Given the description of an element on the screen output the (x, y) to click on. 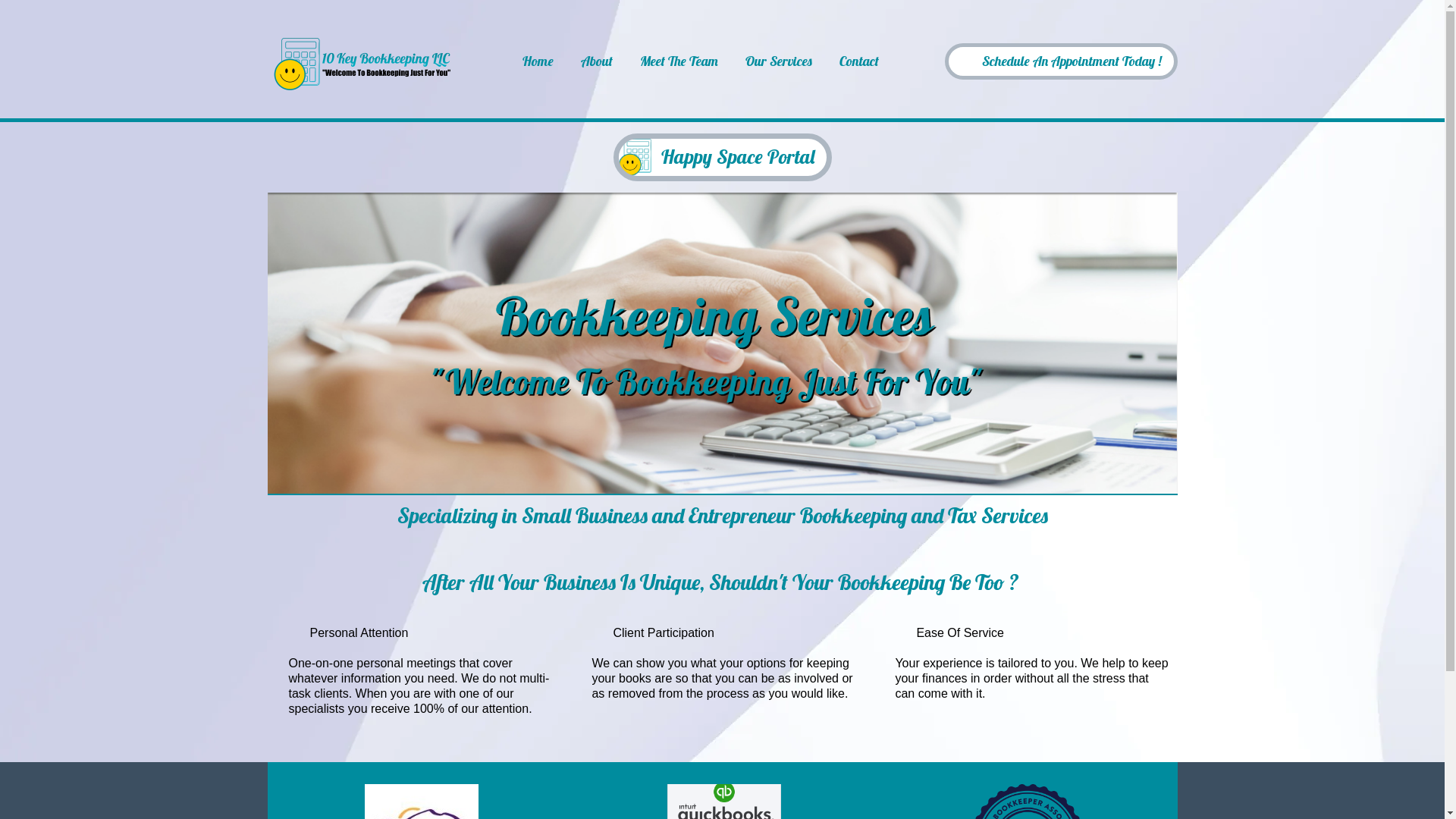
About Element type: text (596, 61)
Contact Element type: text (858, 61)
Our Services Element type: text (778, 61)
Home Element type: text (537, 61)
Meet The Team Element type: text (679, 61)
Schedule An Appointment Today ! Element type: text (1060, 61)
Happy Space Portal Element type: text (721, 157)
